Given the description of an element on the screen output the (x, y) to click on. 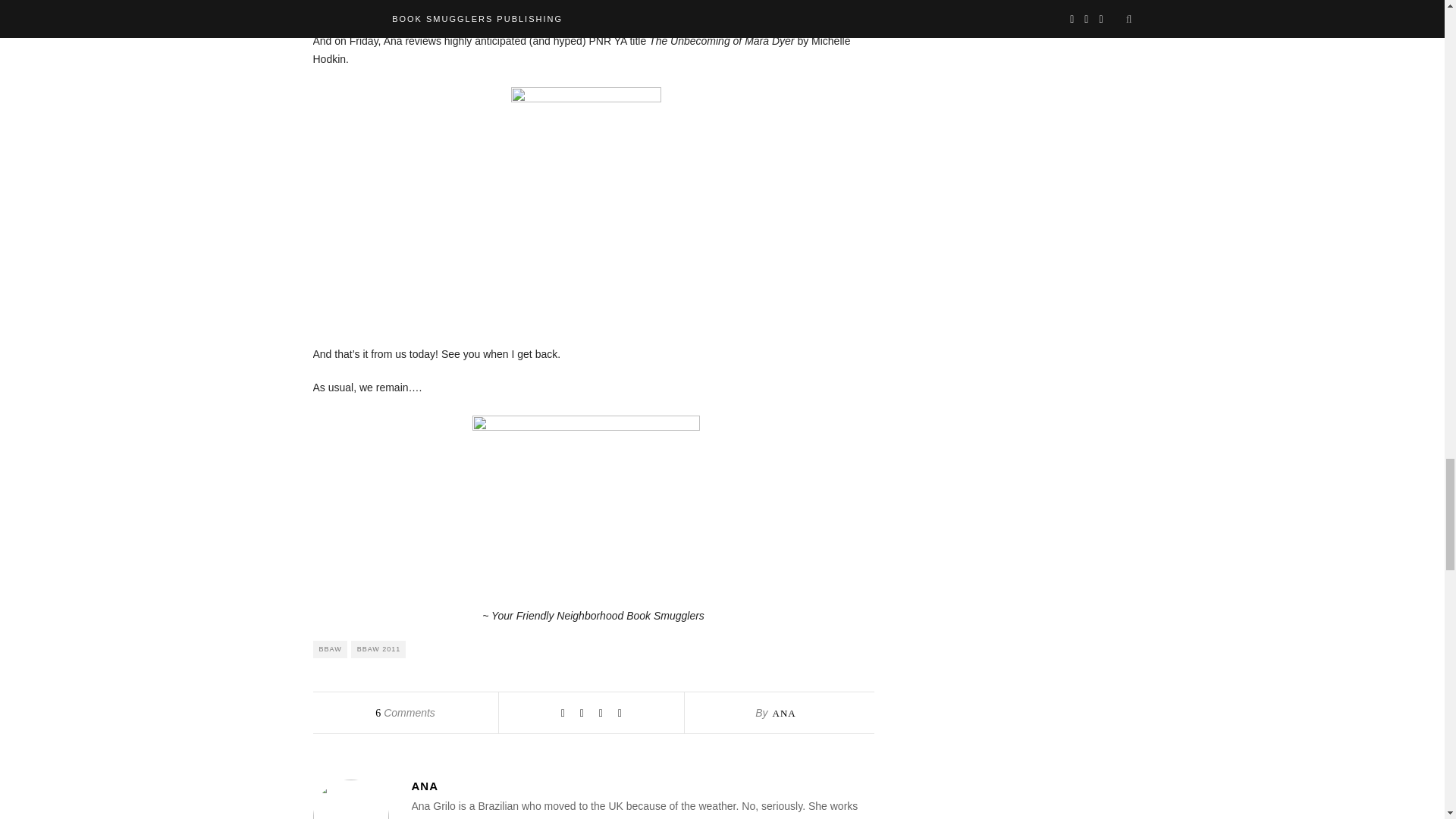
6 Comments (405, 712)
Posts by Ana (641, 785)
Posts by Ana (782, 713)
Time's new Roman (584, 497)
ANA (641, 785)
ANA (782, 713)
BBAW (329, 649)
BBAW 2011 (378, 649)
